Given the description of an element on the screen output the (x, y) to click on. 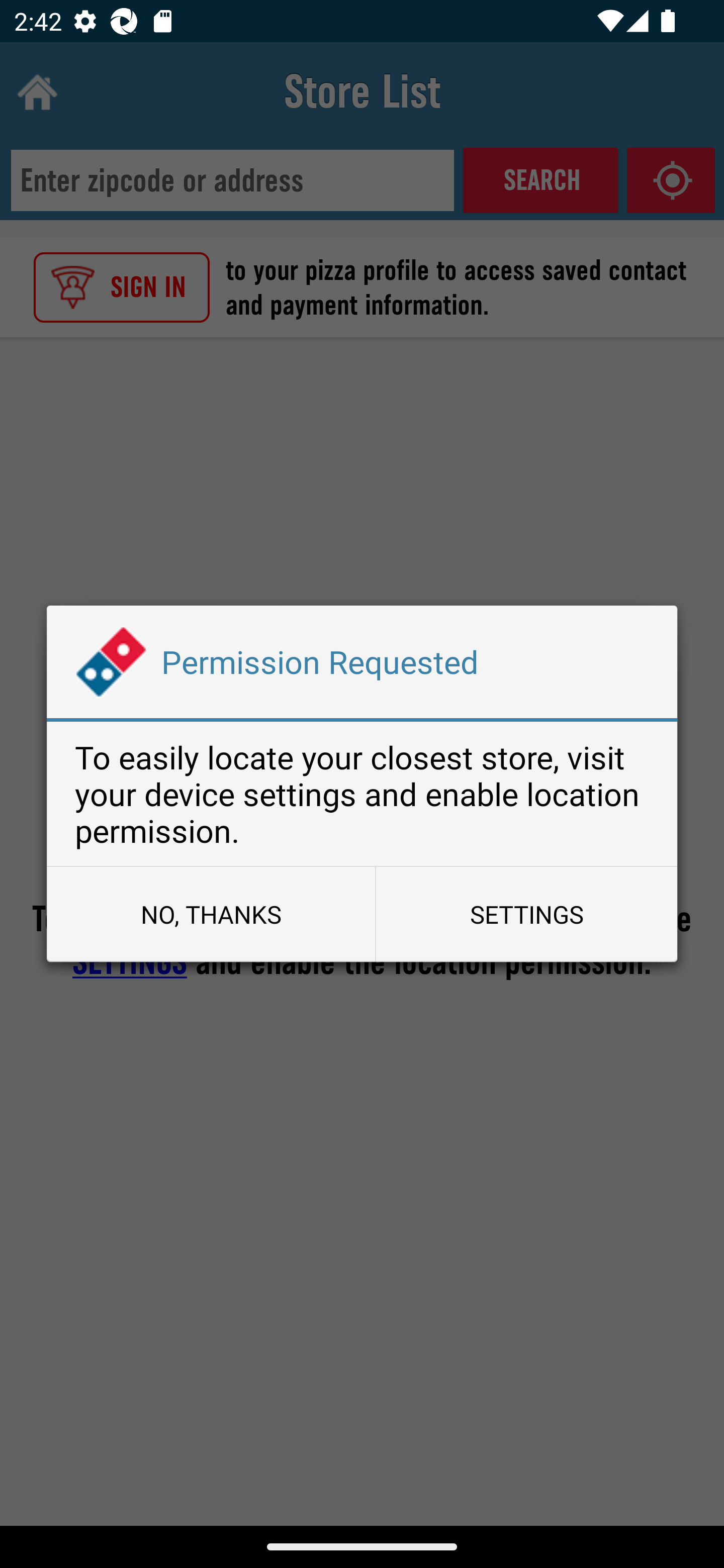
NO, THANKS (211, 914)
SETTINGS (525, 914)
